Given the description of an element on the screen output the (x, y) to click on. 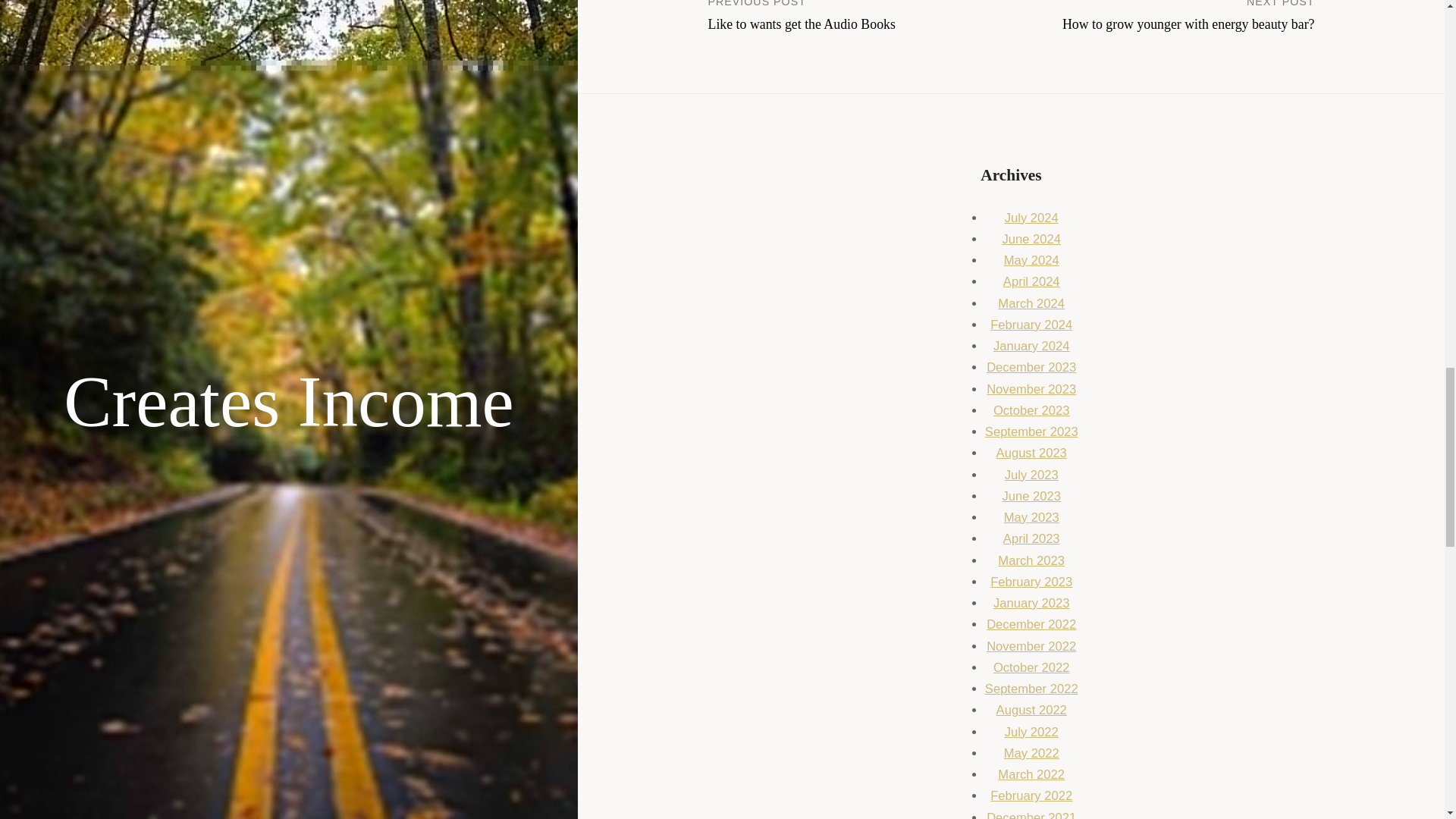
December 2023 (1031, 367)
January 2023 (1031, 603)
January 2024 (1031, 345)
August 2023 (1031, 452)
February 2023 (1030, 581)
March 2023 (1162, 15)
July 2024 (1030, 560)
May 2023 (859, 15)
June 2023 (1031, 217)
December 2022 (1031, 517)
September 2023 (1031, 495)
February 2024 (1031, 624)
July 2023 (1031, 431)
